Given the description of an element on the screen output the (x, y) to click on. 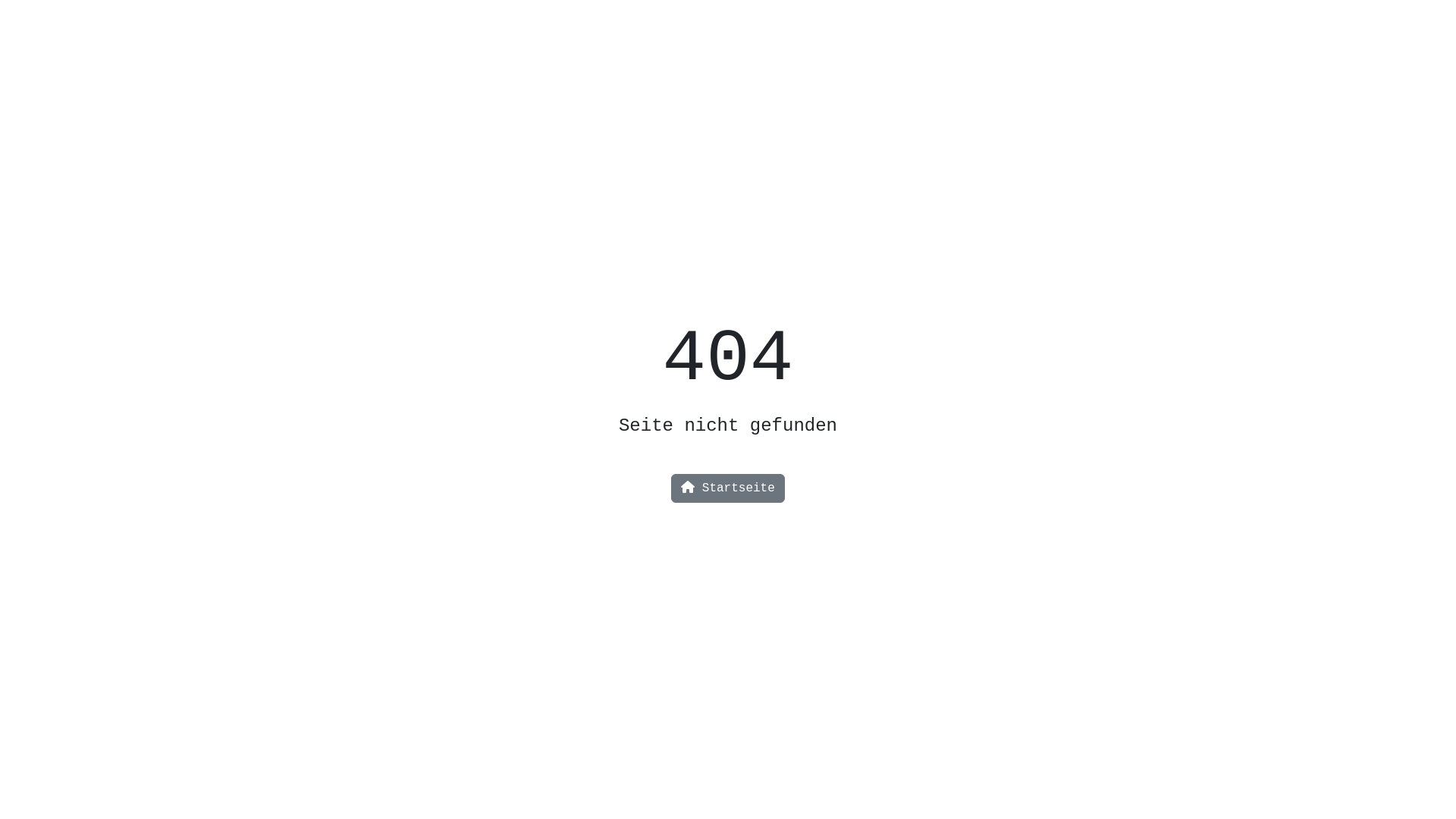
Startseite Element type: text (727, 487)
